Given the description of an element on the screen output the (x, y) to click on. 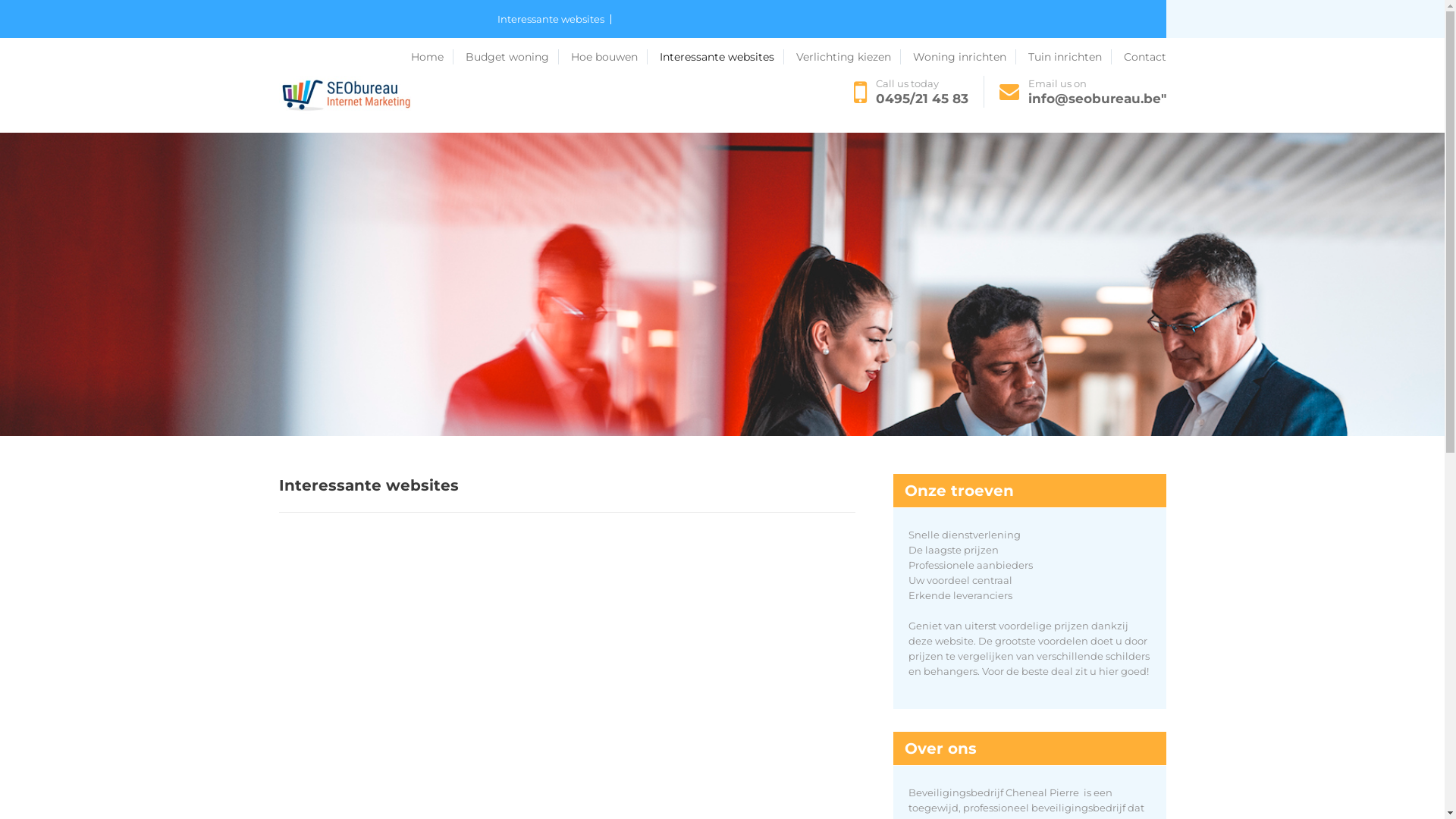
Budget woning Element type: text (511, 56)
Home Element type: text (297, 57)
Contact Element type: text (1144, 56)
Installatie van laminaatvloeren Element type: text (577, 57)
info@seobureau.be" Element type: text (1097, 98)
Tuin inrichten Element type: text (1069, 56)
Home Element type: text (432, 56)
Hoe bouwen Element type: text (608, 56)
Woning inrichten Element type: text (999, 57)
Hoe bouwen Element type: text (453, 57)
Interessante websites Element type: text (721, 56)
Verlichting kiezen Element type: text (848, 56)
Stap voor stap Element type: text (755, 57)
Verlichting kiezen Element type: text (895, 57)
Nieuws Element type: text (820, 57)
Contact Element type: text (298, 95)
Tuin inrichten Element type: text (1093, 57)
Woning inrichten Element type: text (964, 56)
Prijzen Element type: text (688, 57)
Budget woning Element type: text (366, 57)
Interessante websites Element type: text (554, 19)
